Given the description of an element on the screen output the (x, y) to click on. 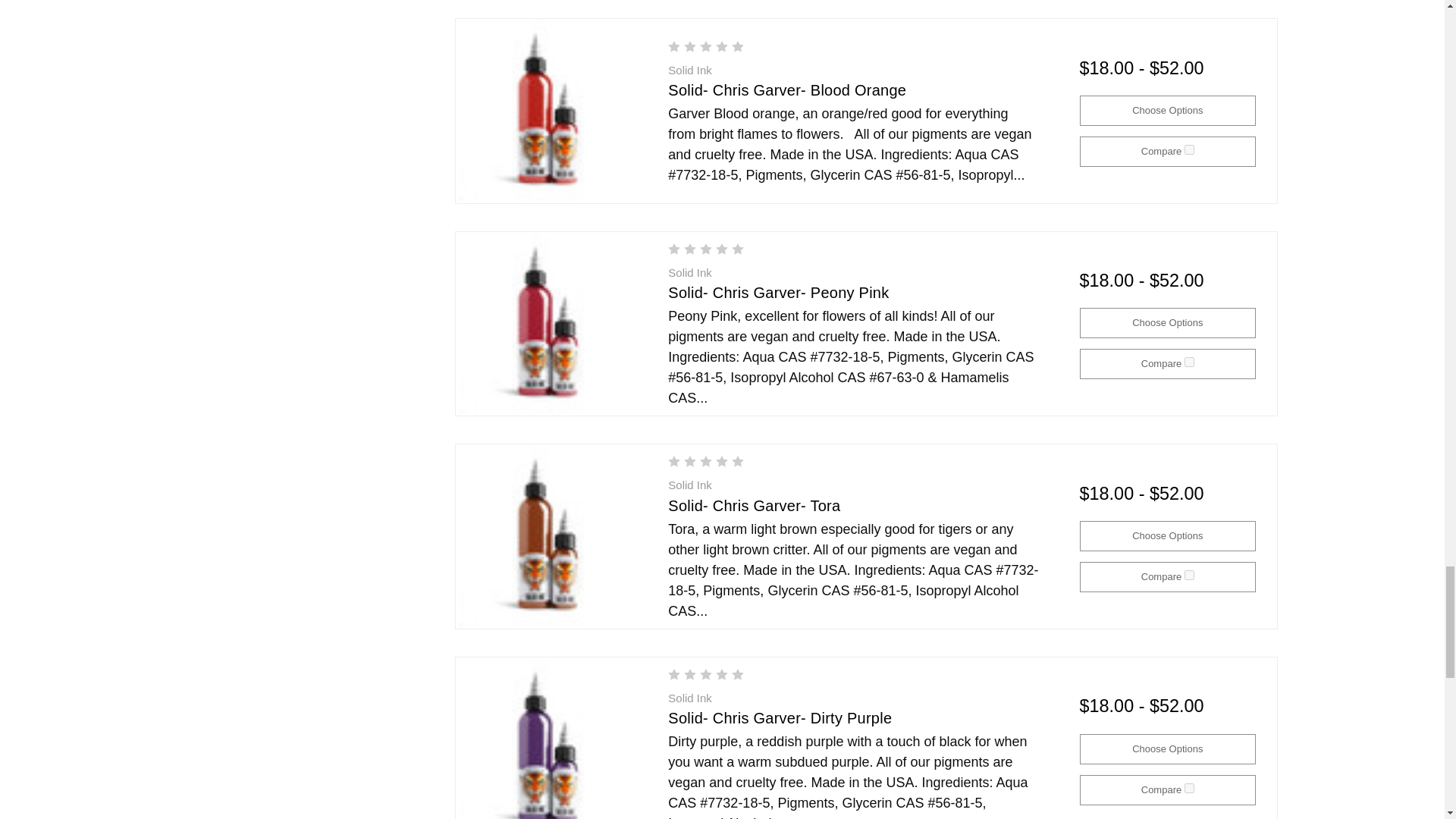
3151 (1189, 787)
3154 (1189, 149)
3152 (1189, 574)
3153 (1189, 361)
